Given the description of an element on the screen output the (x, y) to click on. 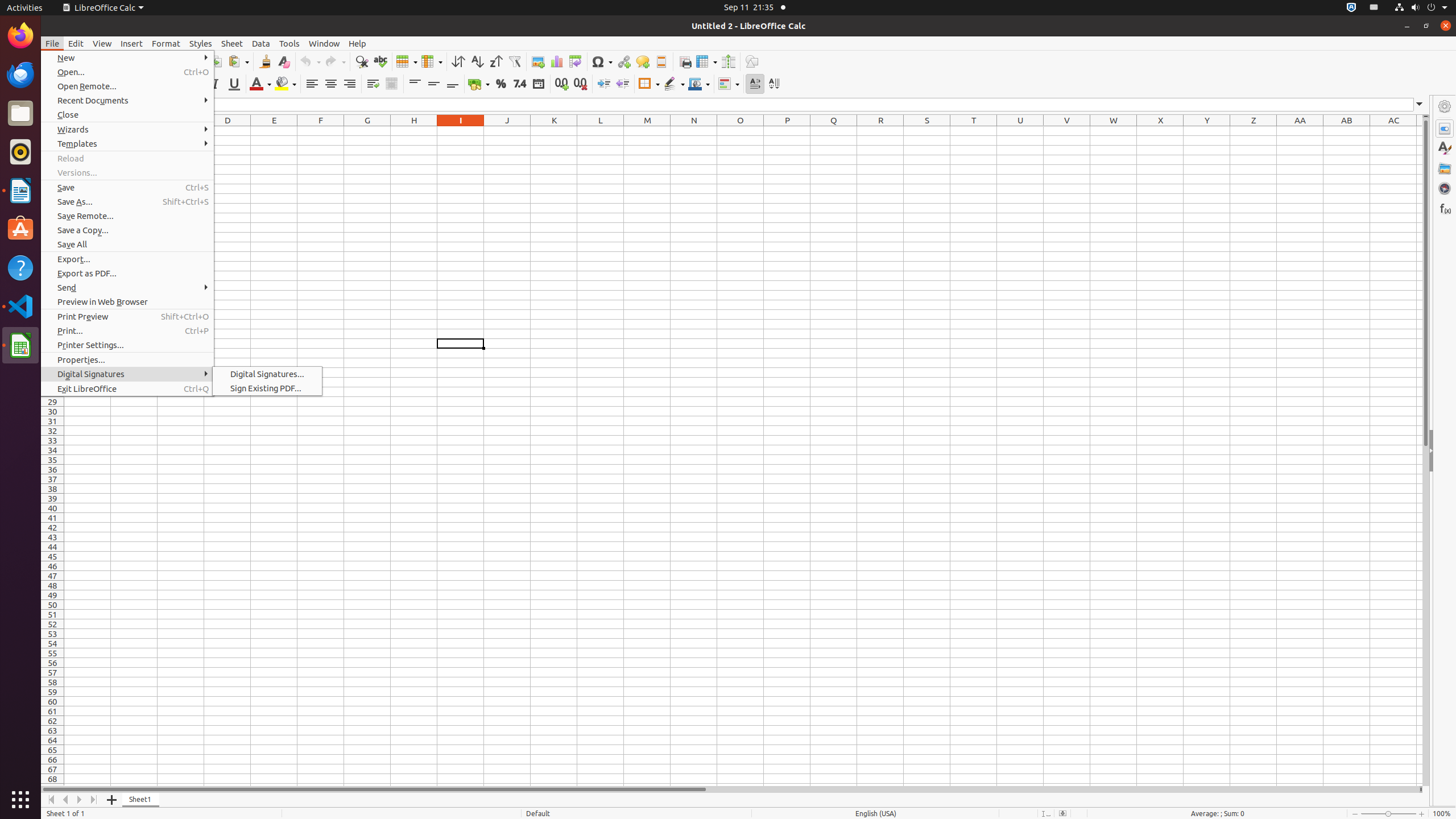
Y1 Element type: table-cell (1206, 130)
View Element type: menu (102, 43)
Row Element type: push-button (406, 61)
Spelling Element type: push-button (379, 61)
Sort Descending Element type: push-button (495, 61)
